Given the description of an element on the screen output the (x, y) to click on. 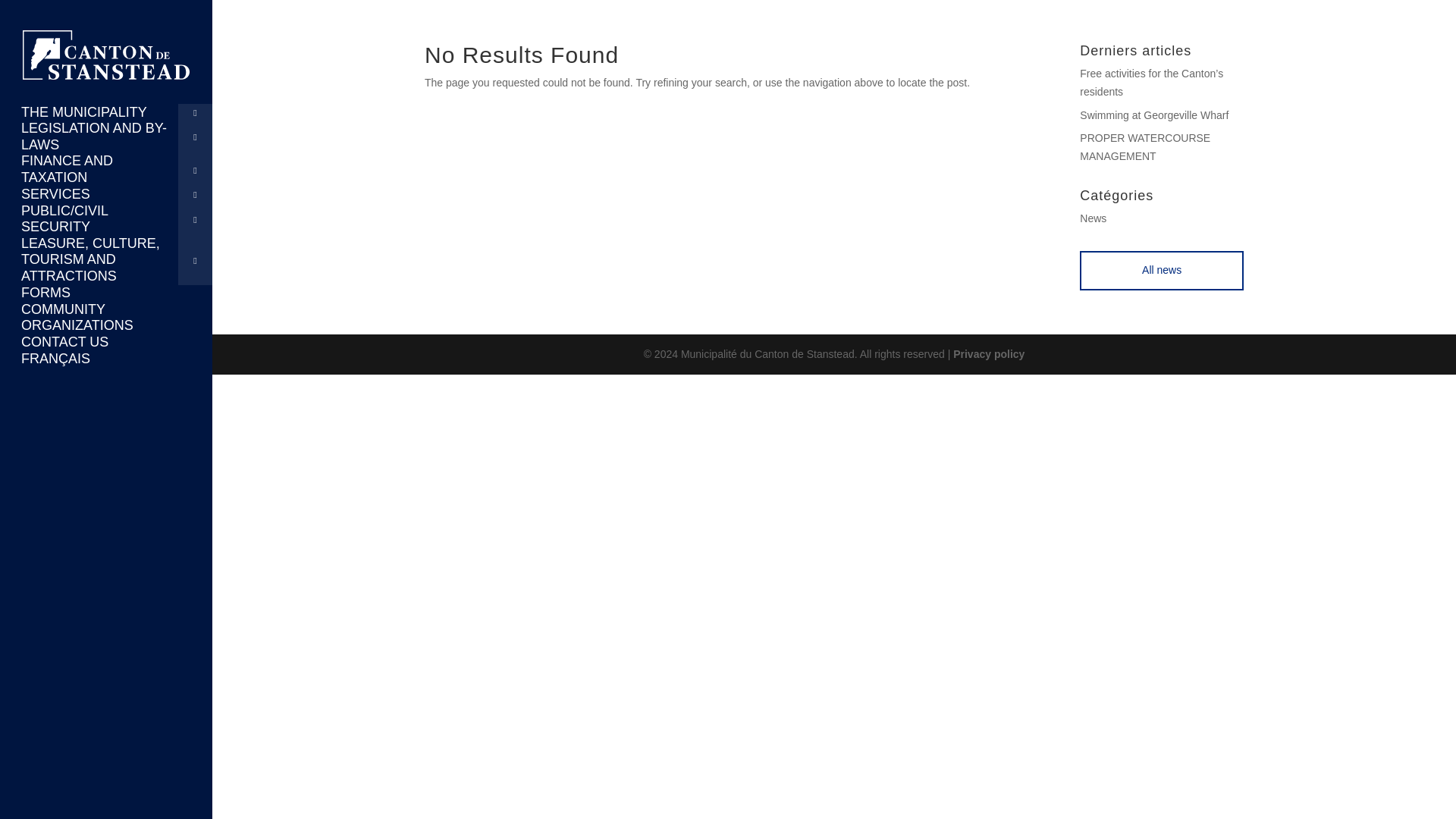
LEGISLATION AND BY-LAWS (106, 136)
SERVICES (106, 194)
THE MUNICIPALITY (106, 112)
FINANCE AND TAXATION (106, 169)
LEASURE, CULTURE, TOURISM AND ATTRACTIONS (106, 260)
